Given the description of an element on the screen output the (x, y) to click on. 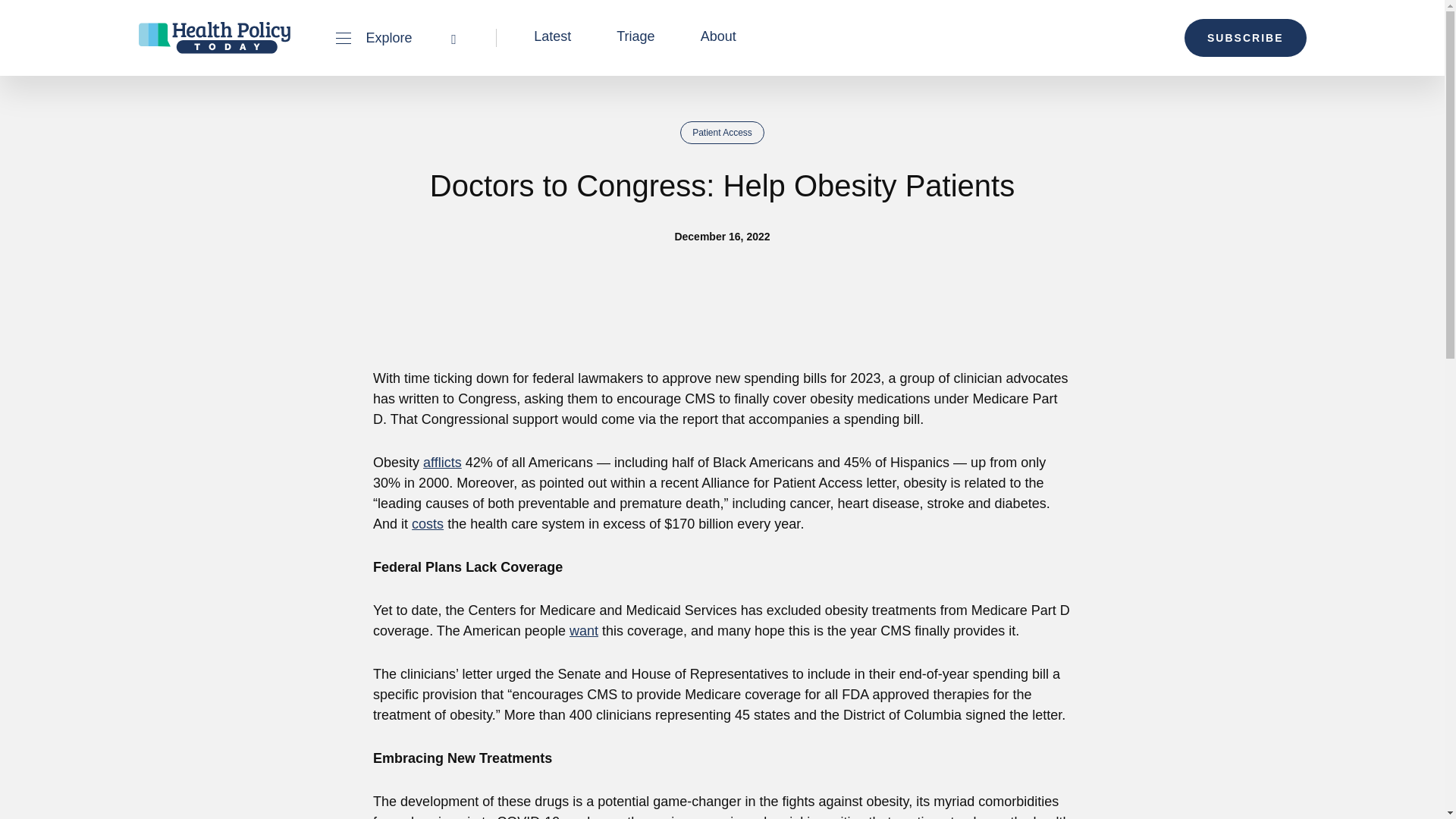
want (583, 630)
About (718, 36)
Patient Access (721, 132)
Triage (635, 36)
Latest (552, 36)
costs (428, 523)
SUBSCRIBE (1245, 37)
afflicts (442, 462)
